Given the description of an element on the screen output the (x, y) to click on. 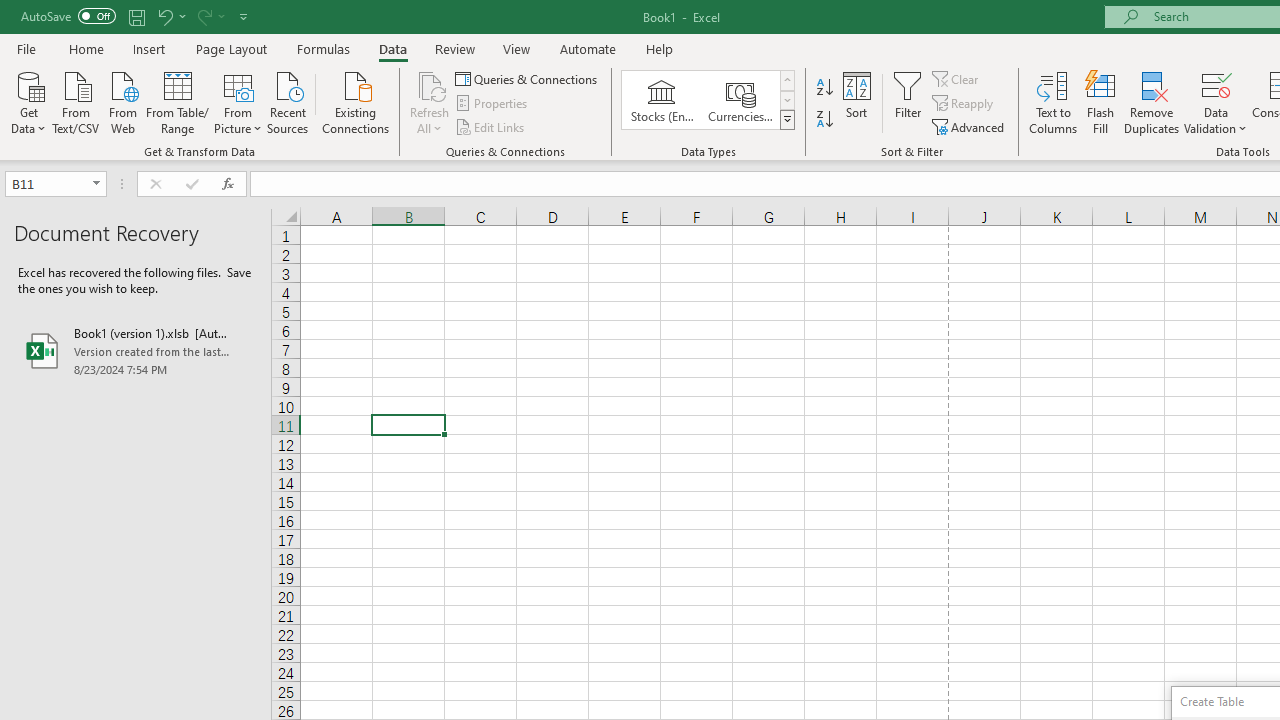
Class: NetUIImage (787, 119)
Data Validation... (1215, 84)
Filter (908, 102)
Flash Fill (1101, 102)
From Picture (238, 101)
Get Data (28, 101)
From Table/Range (177, 101)
